Given the description of an element on the screen output the (x, y) to click on. 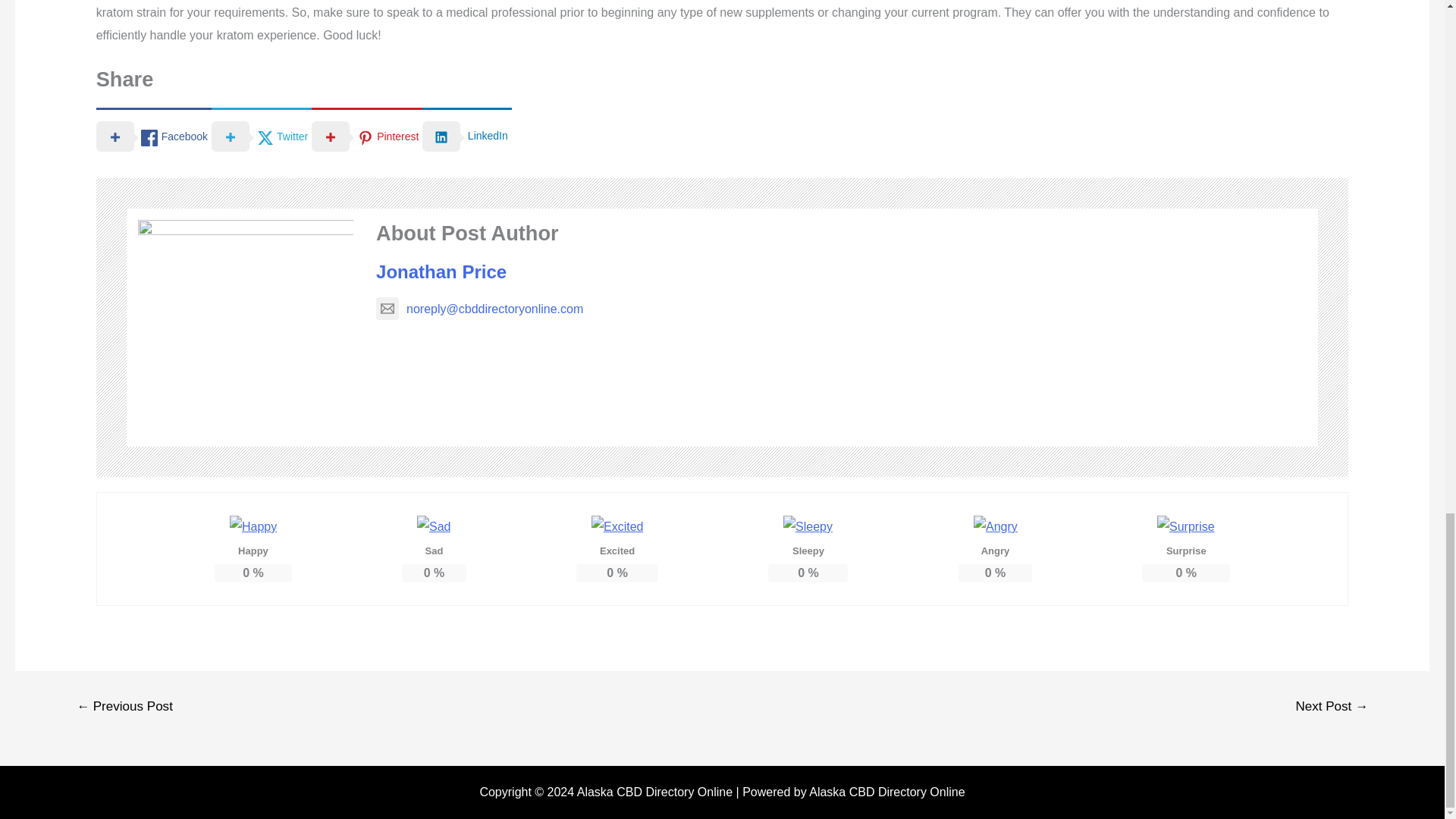
Pinterest (366, 134)
Jonathan Price (440, 271)
Twitter (261, 134)
Facebook (153, 134)
LinkedIn (466, 134)
